Given the description of an element on the screen output the (x, y) to click on. 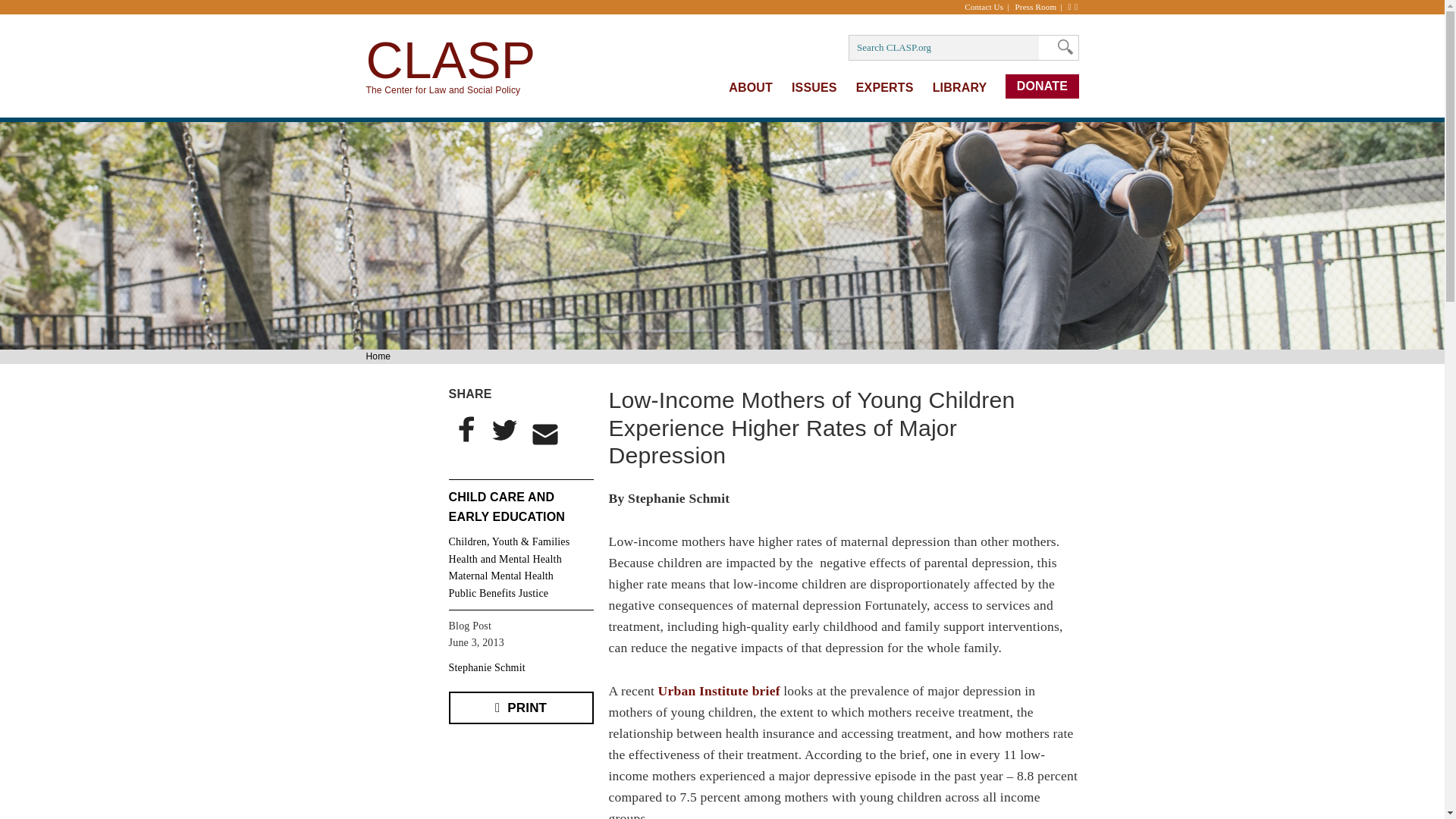
Display a printer-friendly version of this page. (521, 707)
Facebook (466, 429)
Search (1060, 47)
ISSUES (814, 87)
Press Room (1039, 6)
Search (1060, 47)
CLASP (450, 59)
Contact Us (987, 6)
CLASP (450, 59)
Press Room (1039, 6)
Email (545, 434)
Twitter (502, 429)
ABOUT (751, 87)
Contact Us (987, 6)
